Given the description of an element on the screen output the (x, y) to click on. 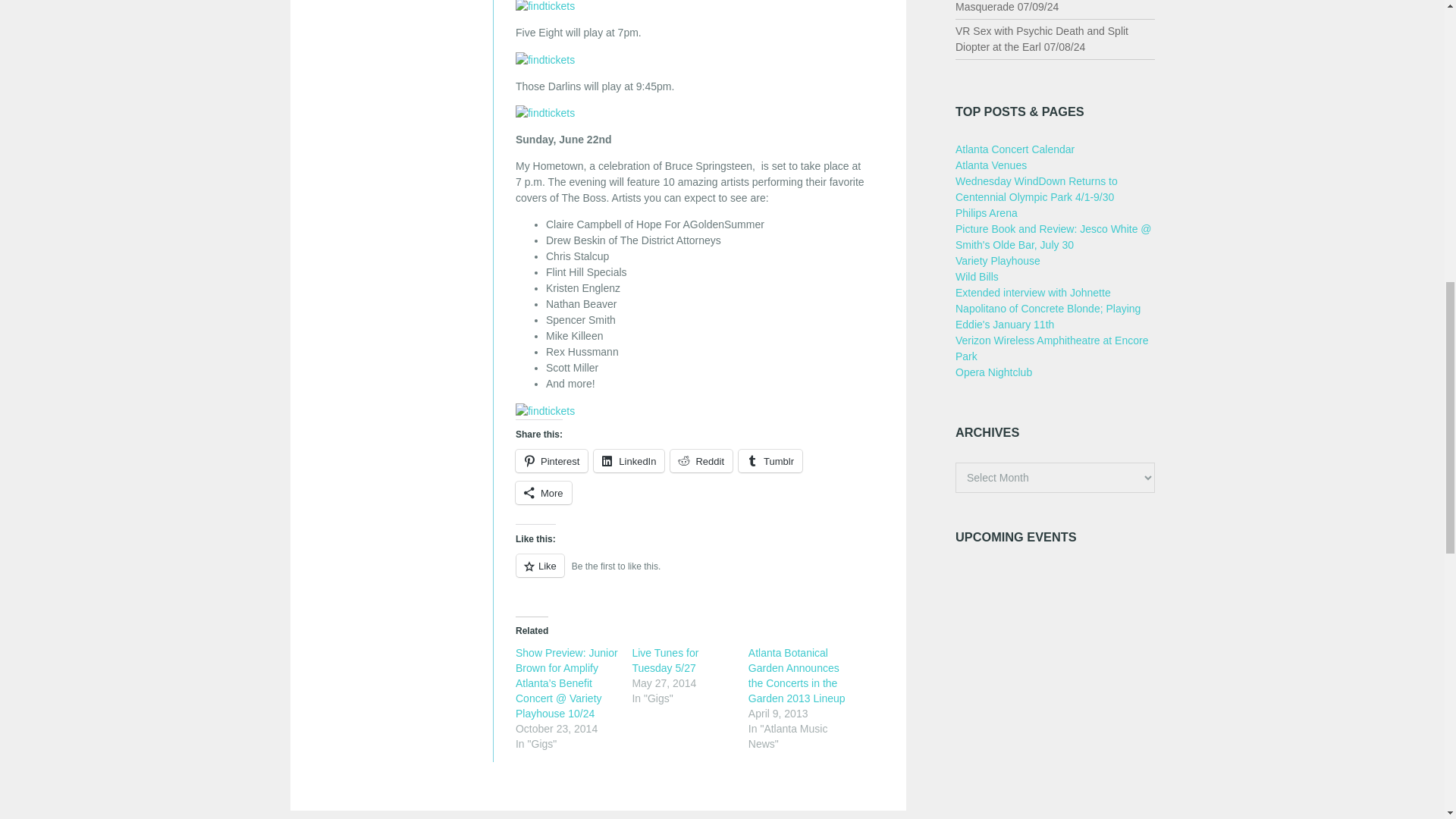
Tumblr (770, 460)
Pinterest (551, 460)
Click to share on Tumblr (770, 460)
Click to share on LinkedIn (628, 460)
Click to share on Pinterest (551, 460)
Like or Reblog (691, 574)
LinkedIn (628, 460)
More (543, 492)
Reddit (700, 460)
Click to share on Reddit (700, 460)
